Given the description of an element on the screen output the (x, y) to click on. 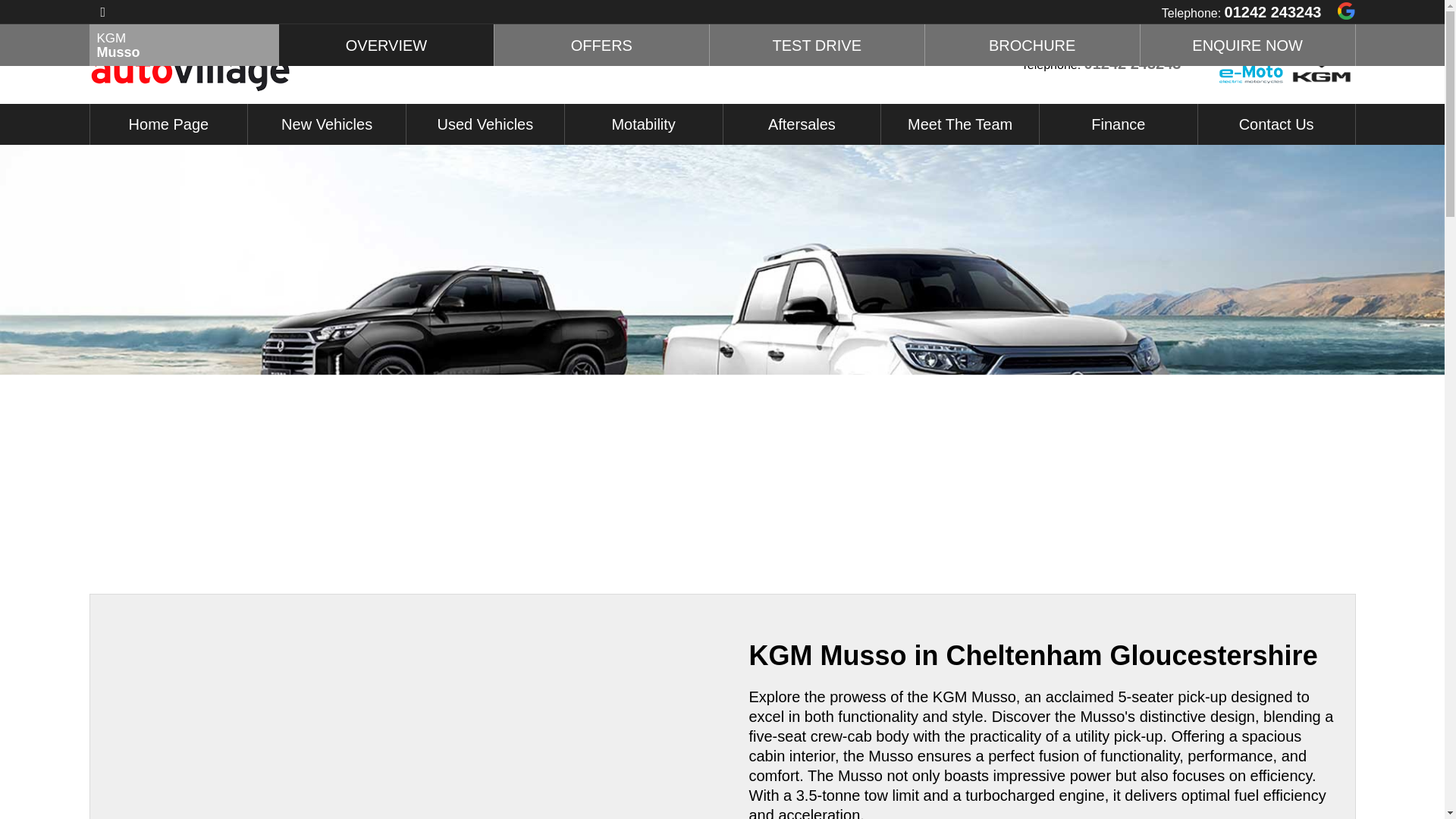
Motability (643, 124)
Aftersales (801, 124)
New Vehicles (326, 124)
TEST DRIVE (817, 45)
Home Page (167, 124)
Finance (1117, 124)
01242 243243 (1273, 12)
ENQUIRE NOW (1247, 45)
BROCHURE (1032, 45)
Contact Us (1276, 124)
